Given the description of an element on the screen output the (x, y) to click on. 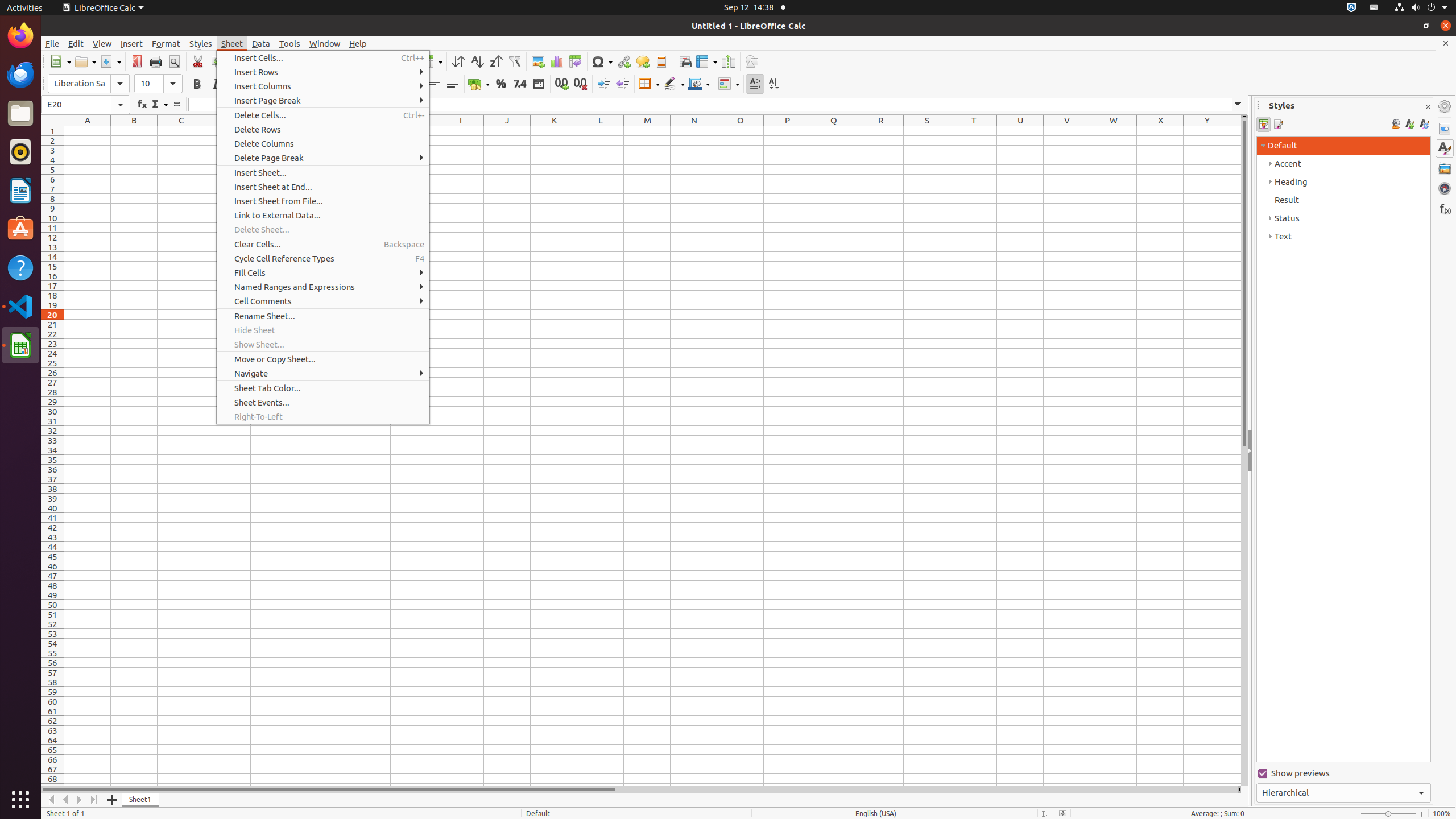
Edit Element type: menu (75, 43)
Z1 Element type: table-cell (1235, 130)
Delete Cells... Element type: menu-item (322, 115)
Decrease Element type: push-button (622, 83)
LibreOffice Calc Element type: menu (102, 7)
